Given the description of an element on the screen output the (x, y) to click on. 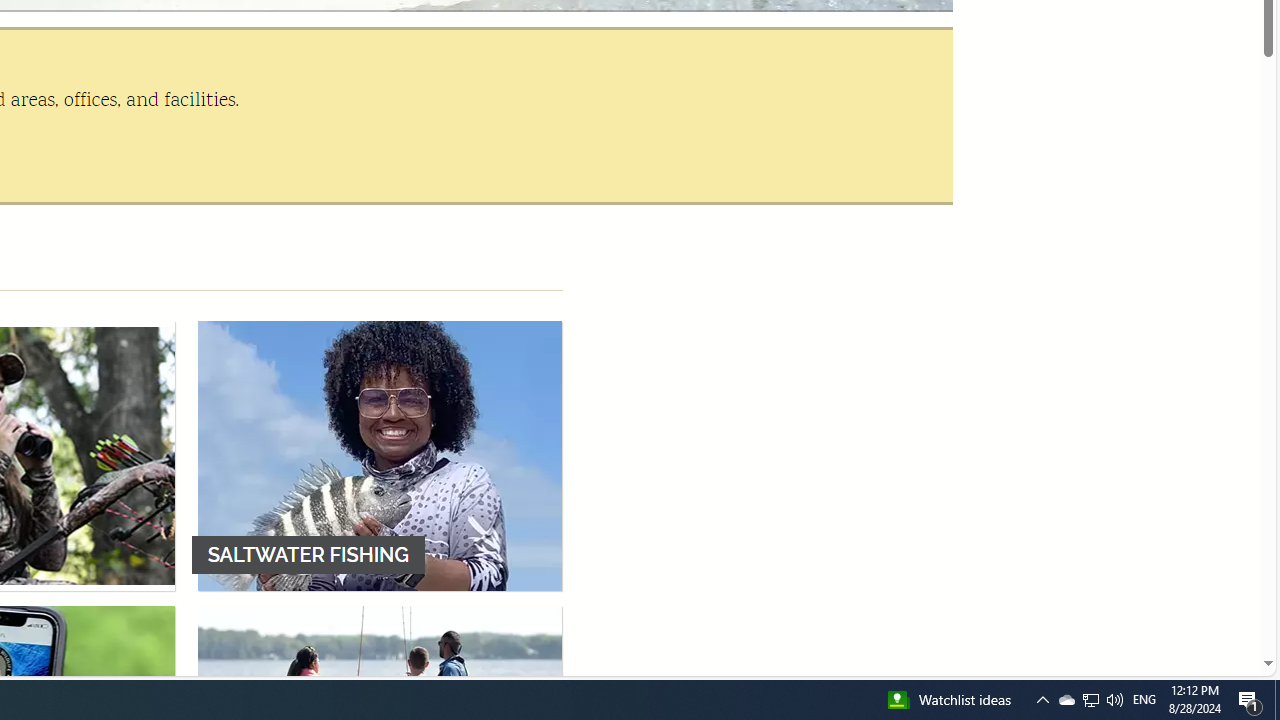
SALTWATER FISHING (380, 455)
